Given the description of an element on the screen output the (x, y) to click on. 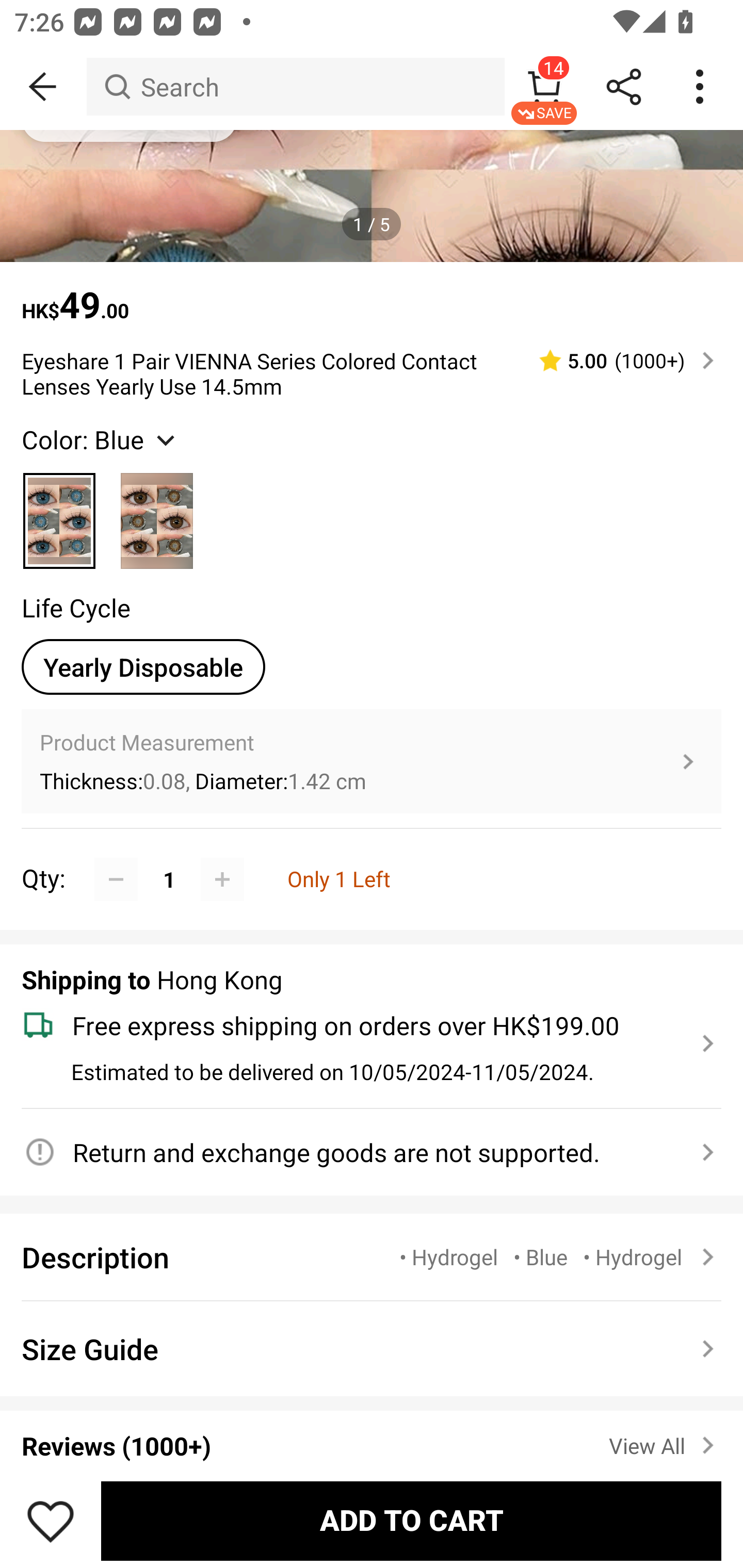
BACK (43, 86)
14 SAVE (543, 87)
Search (295, 87)
1 / 5 (371, 224)
HK$49.00 (371, 294)
5.00 (1000‎+) (617, 360)
Color: Blue (100, 438)
Blue (59, 512)
chocolate (156, 512)
Life Cycle (75, 607)
Yearly Disposable Yearly Disposableselected option (143, 666)
Qty: 1 Only 1 Left (371, 857)
Return and exchange goods are not supported. (359, 1152)
Size Guide (371, 1348)
View All (664, 1441)
ADD TO CART (411, 1520)
Save (50, 1520)
